Given the description of an element on the screen output the (x, y) to click on. 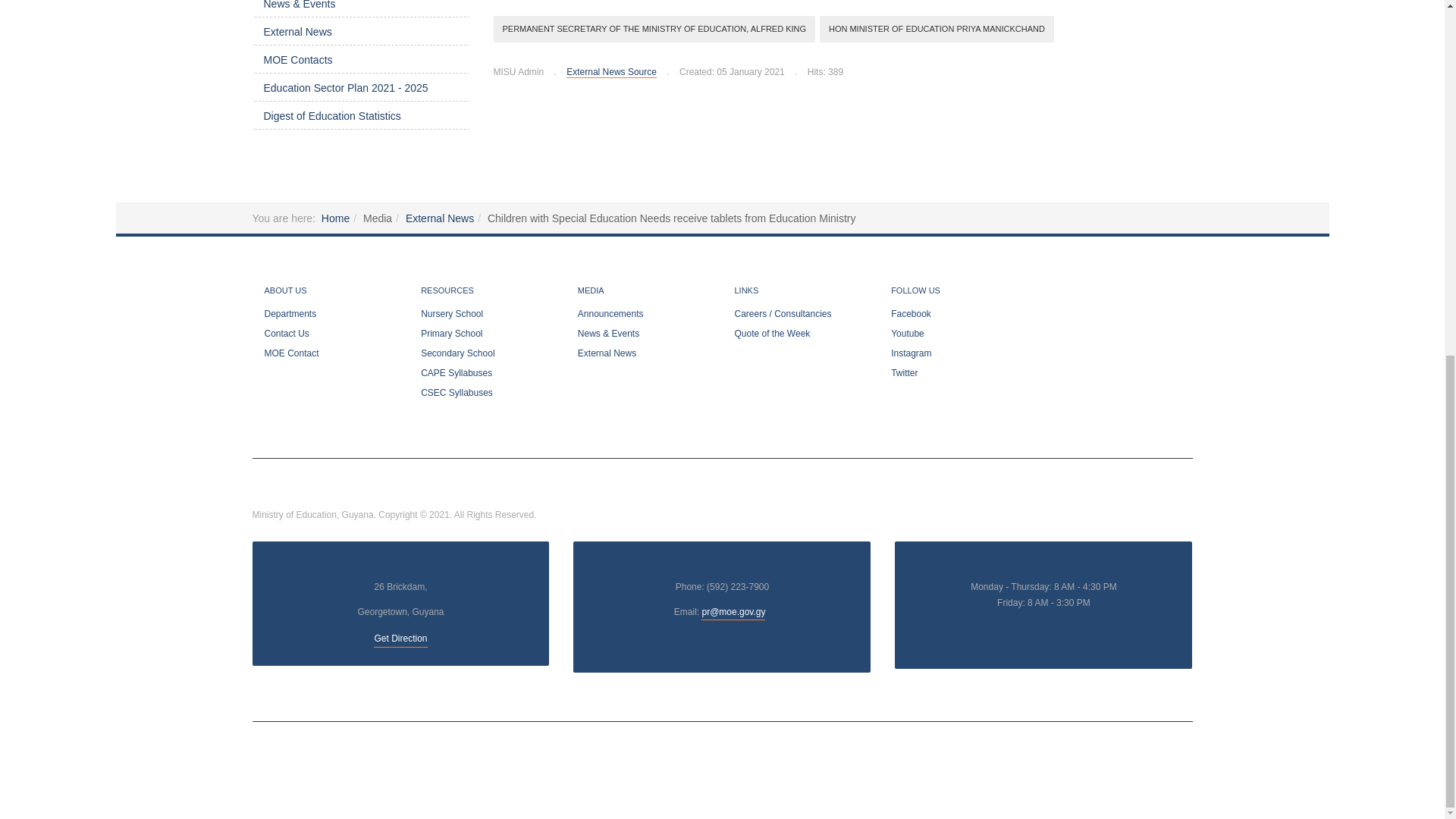
Contact Us (733, 612)
Get Direction (400, 638)
Written by  (518, 72)
Category:  (605, 72)
